Given the description of an element on the screen output the (x, y) to click on. 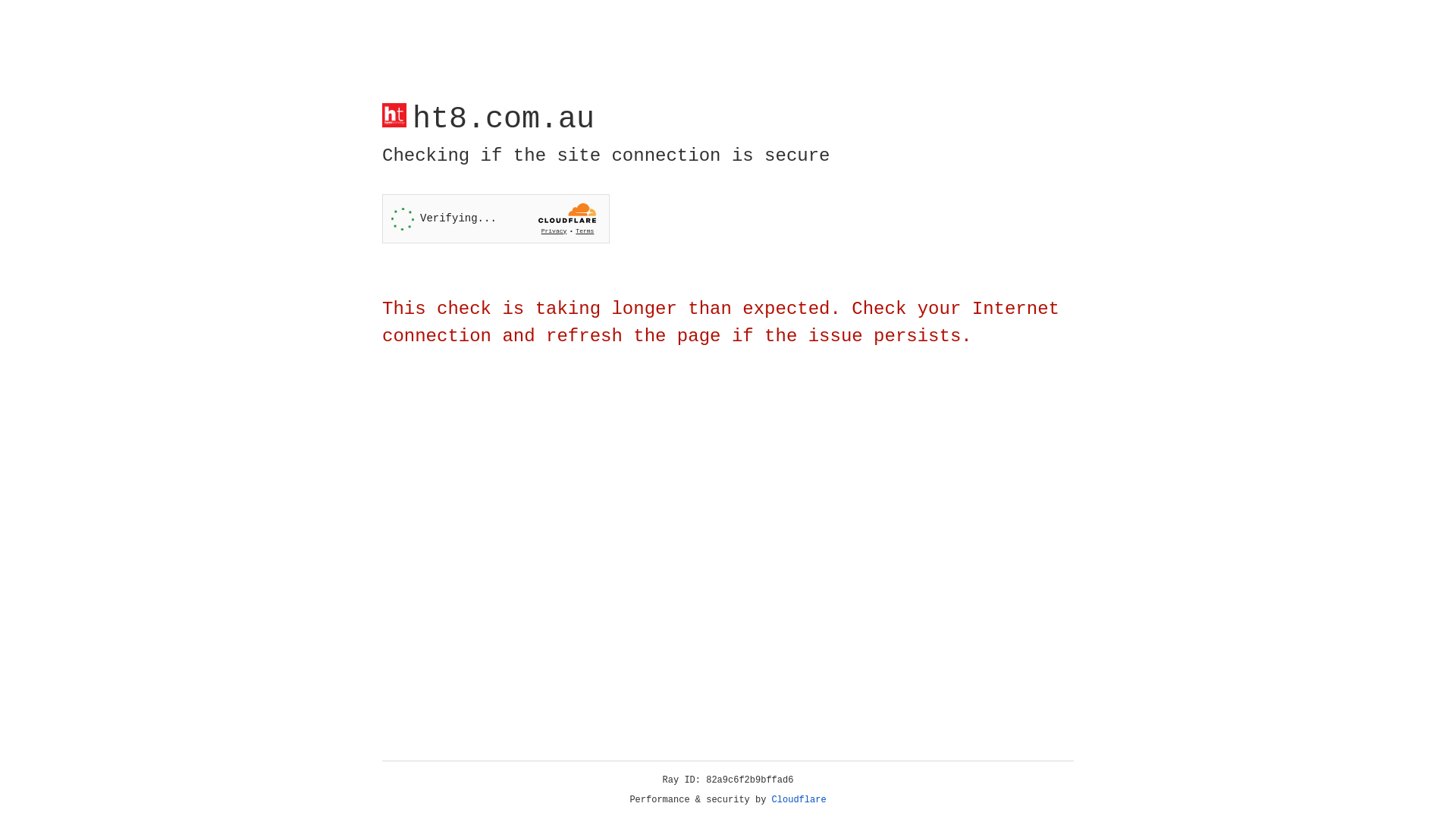
Cloudflare Element type: text (798, 799)
